Given the description of an element on the screen output the (x, y) to click on. 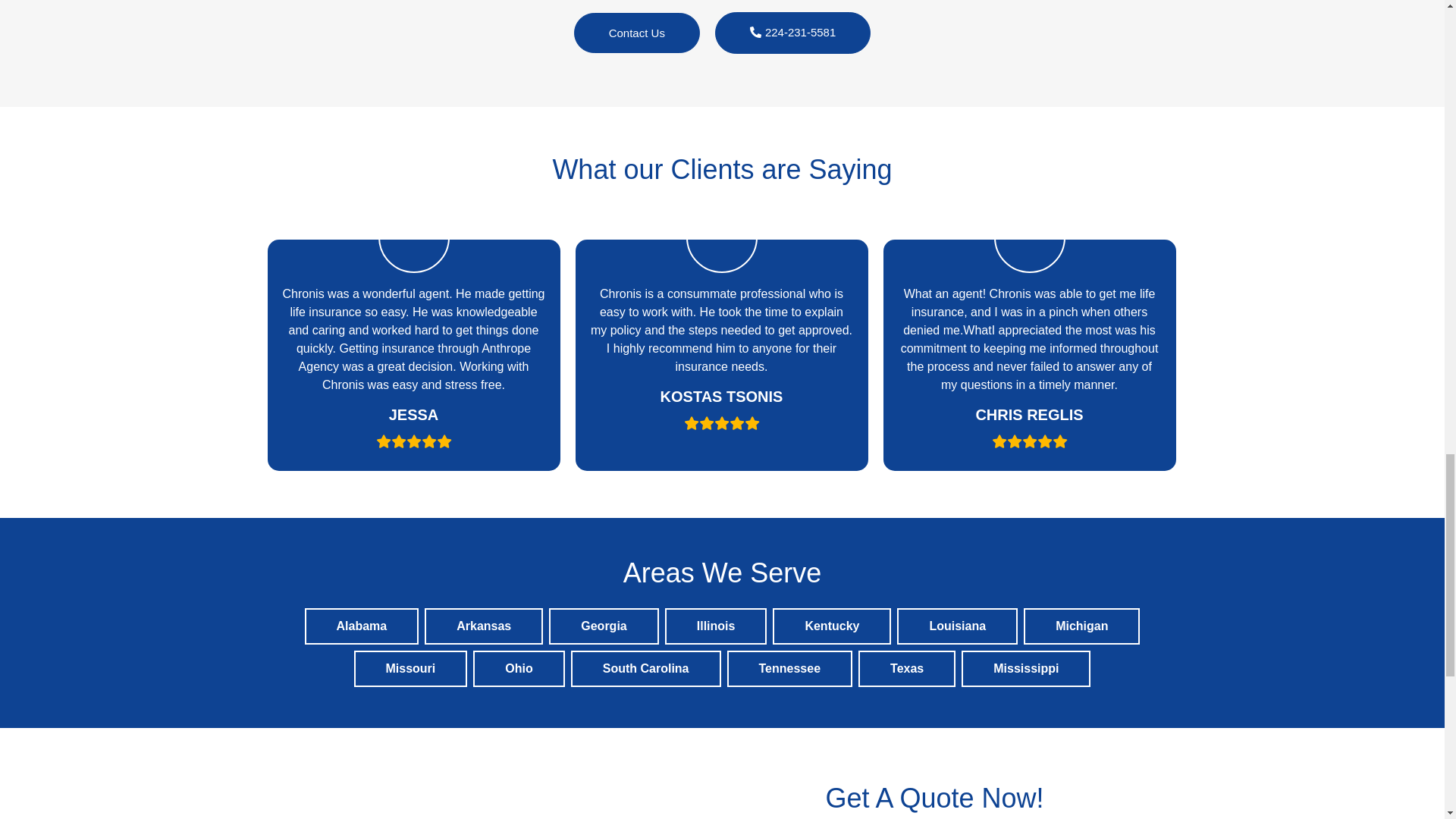
South Carolina (645, 668)
Texas (907, 668)
Alabama (361, 626)
Michigan (1081, 626)
Mississippi (1025, 668)
Missouri (410, 668)
Kentucky (831, 626)
Arkansas (484, 626)
Louisiana (956, 626)
Tennessee (789, 668)
Contact Us (636, 33)
Ohio (518, 668)
Illinois (716, 626)
224-231-5581 (792, 33)
Georgia (603, 626)
